Given the description of an element on the screen output the (x, y) to click on. 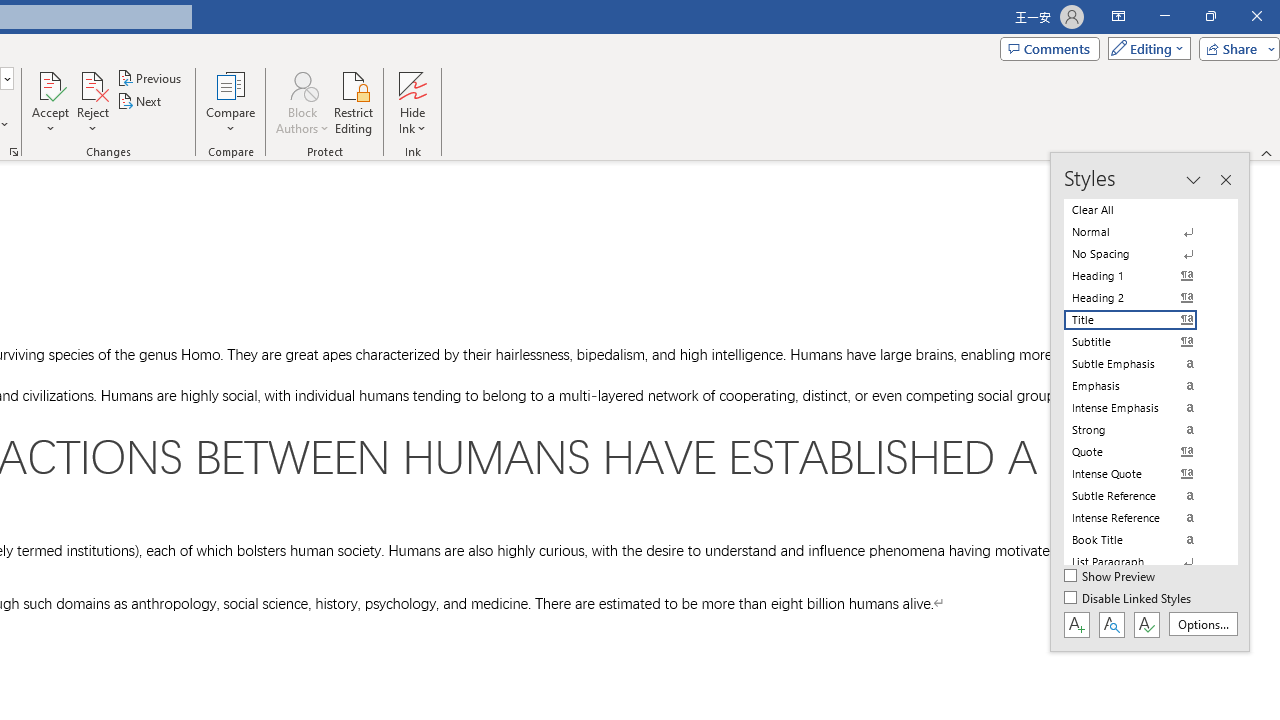
Block Authors (302, 102)
Intense Emphasis (1142, 407)
Subtle Emphasis (1142, 363)
